Given the description of an element on the screen output the (x, y) to click on. 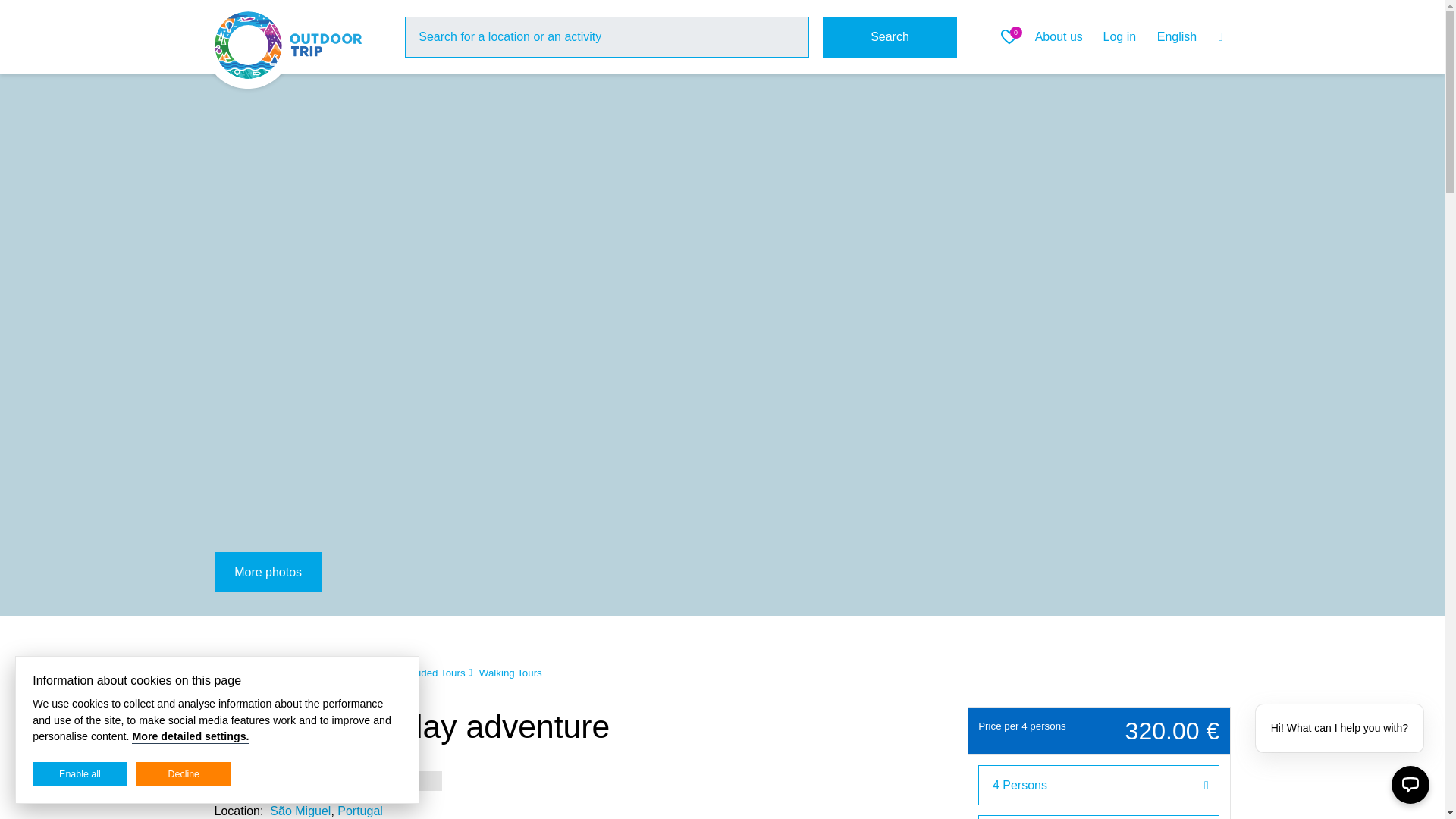
More photos (267, 572)
Sightseeing and Guided Tours (397, 672)
0 (1011, 36)
Portugal (359, 810)
Portugal (232, 672)
Walking Tours (510, 672)
English (1190, 36)
About us (1059, 37)
Date and time (1099, 816)
Search (890, 36)
4 Persons (1099, 784)
Log in (1118, 37)
